Given the description of an element on the screen output the (x, y) to click on. 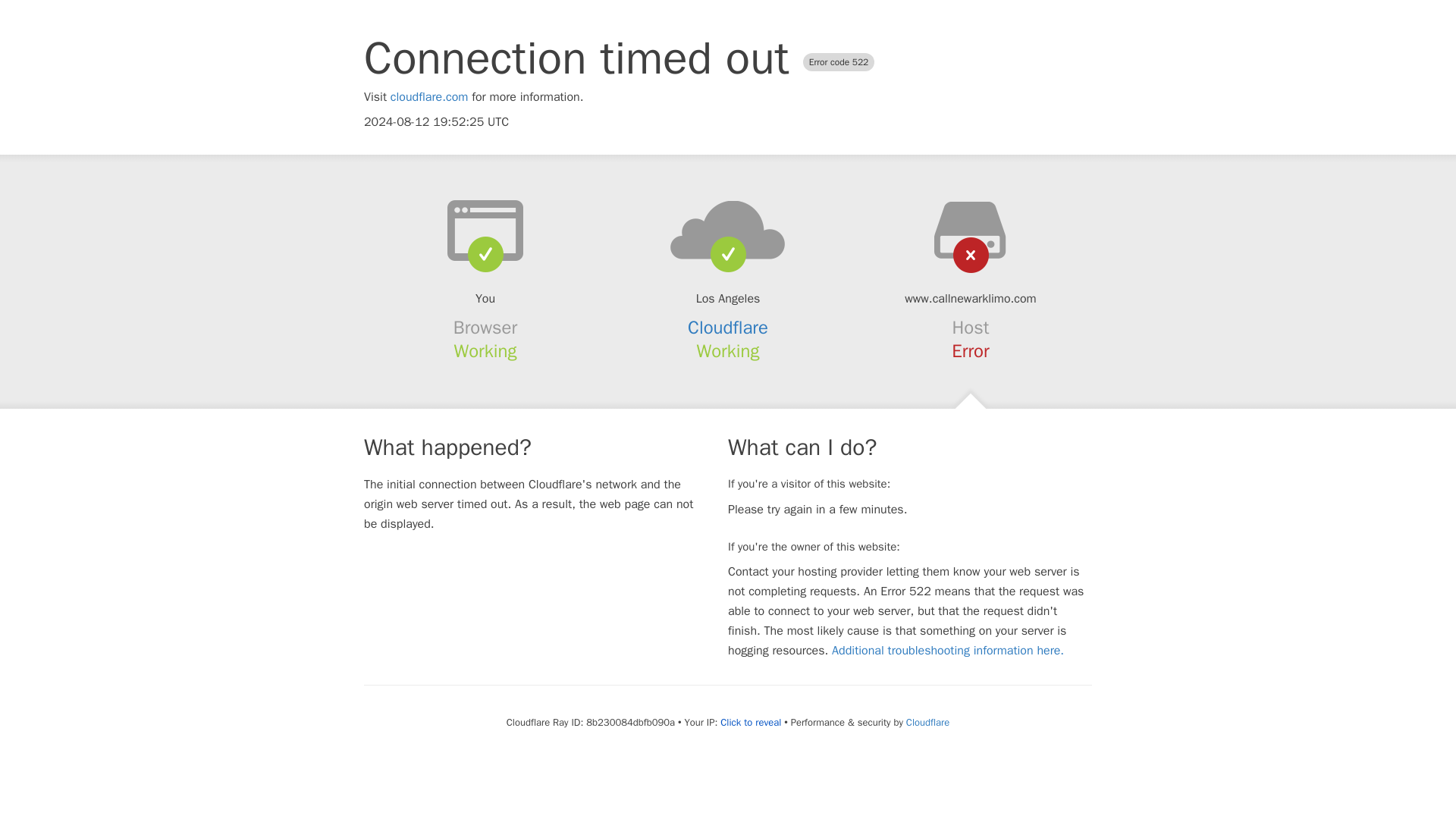
Cloudflare (727, 327)
Cloudflare (927, 721)
Additional troubleshooting information here. (947, 650)
Click to reveal (750, 722)
cloudflare.com (429, 96)
